Given the description of an element on the screen output the (x, y) to click on. 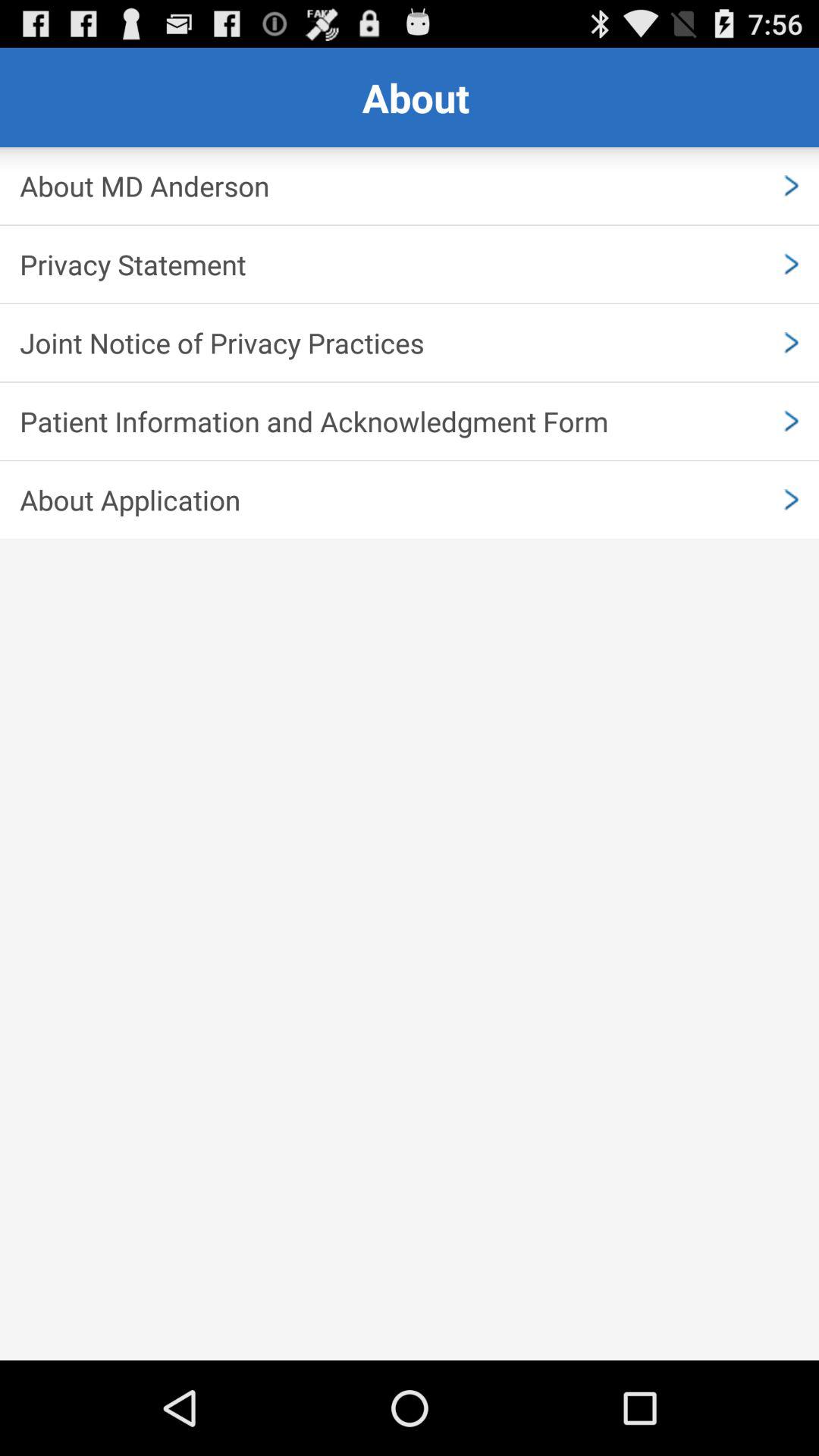
tap item below privacy statement icon (409, 342)
